Given the description of an element on the screen output the (x, y) to click on. 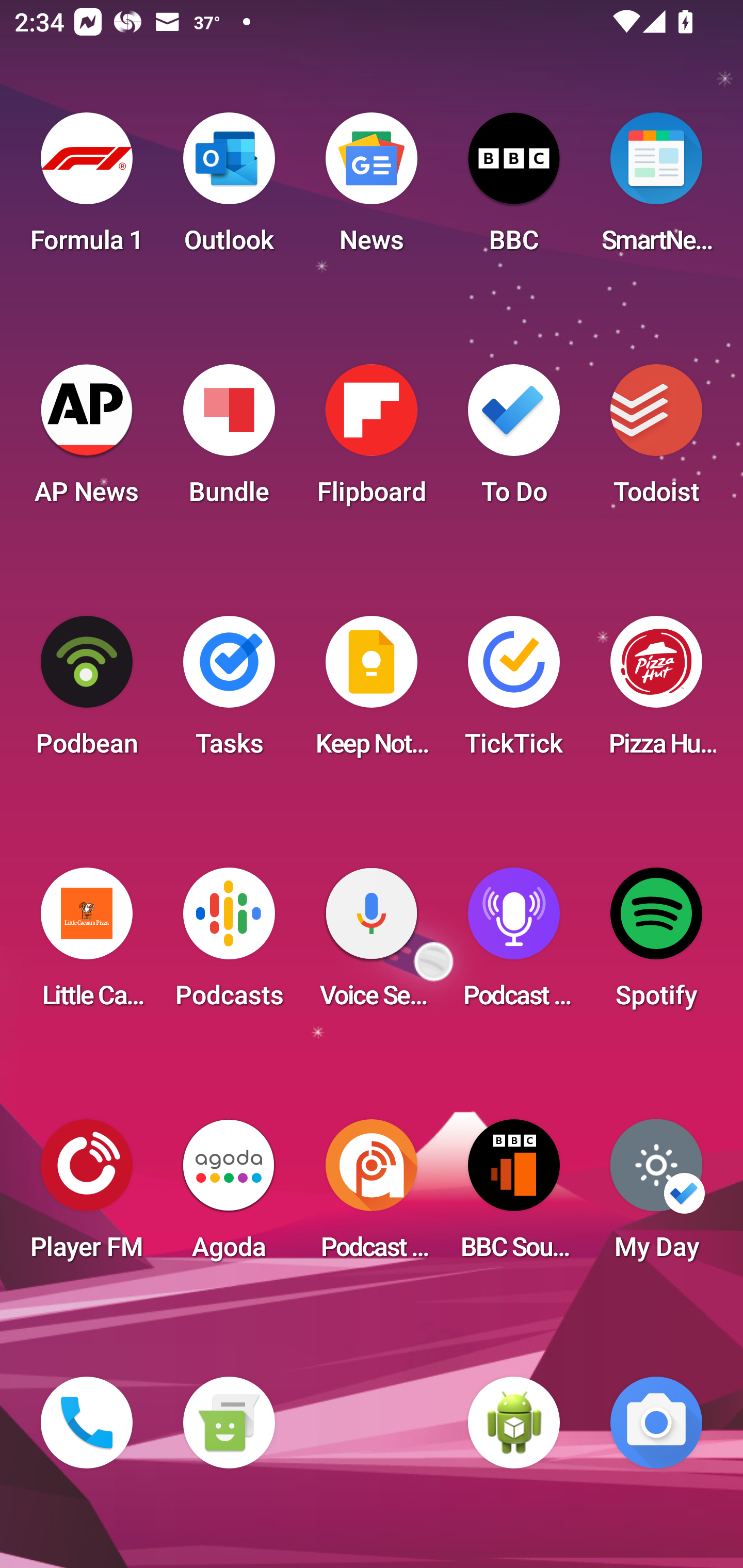
Formula 1 (86, 188)
Outlook (228, 188)
News (371, 188)
BBC (513, 188)
SmartNews (656, 188)
AP News (86, 440)
Bundle (228, 440)
Flipboard (371, 440)
To Do (513, 440)
Todoist (656, 440)
Podbean (86, 692)
Tasks (228, 692)
Keep Notes (371, 692)
TickTick (513, 692)
Pizza Hut HK & Macau (656, 692)
Little Caesars Pizza (86, 943)
Podcasts (228, 943)
Voice Search (371, 943)
Podcast Player (513, 943)
Spotify (656, 943)
Player FM (86, 1195)
Agoda (228, 1195)
Podcast Addict (371, 1195)
BBC Sounds (513, 1195)
My Day (656, 1195)
Phone (86, 1422)
Messaging (228, 1422)
WebView Browser Tester (513, 1422)
Camera (656, 1422)
